Given the description of an element on the screen output the (x, y) to click on. 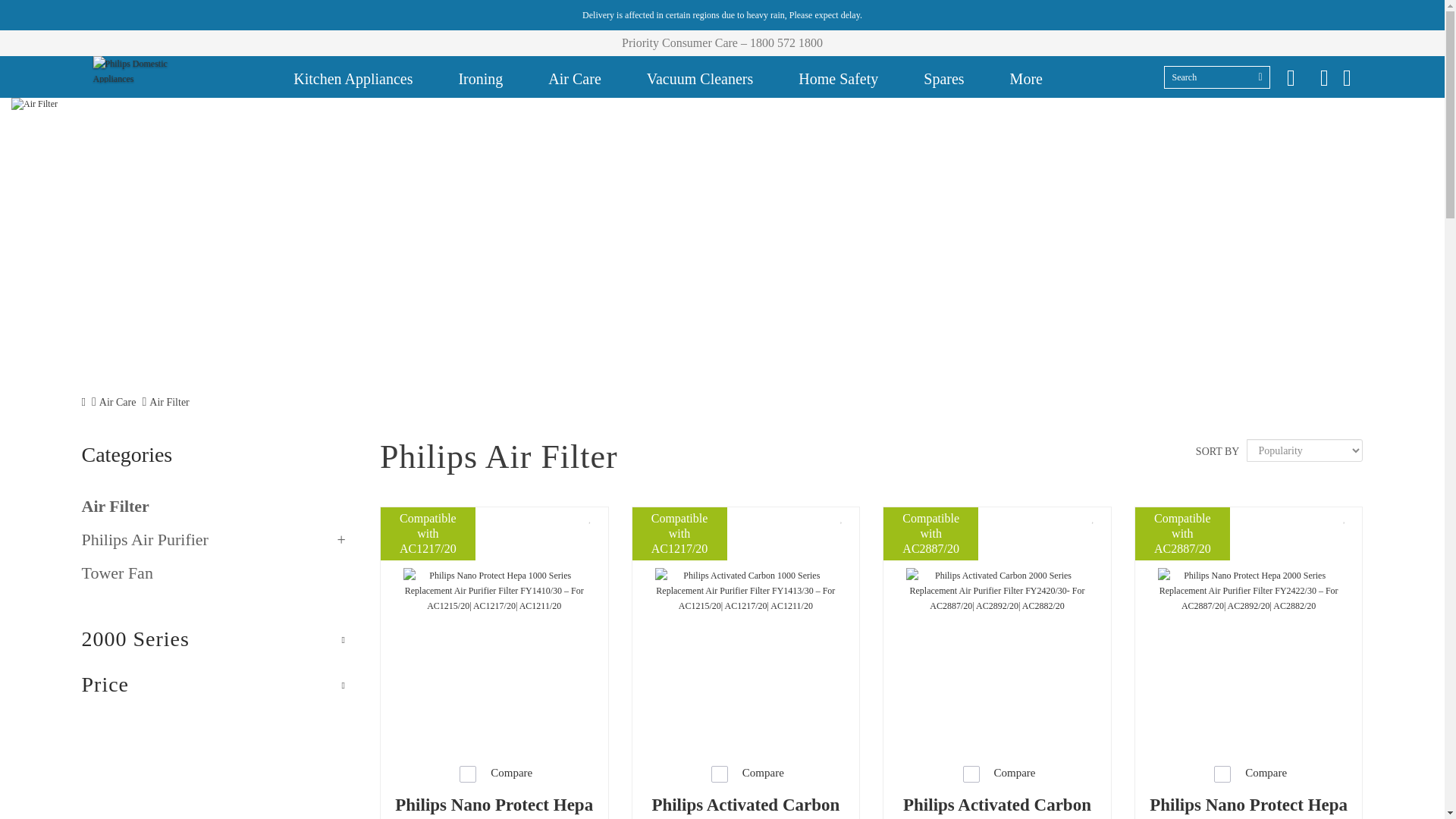
Cart (1346, 78)
Philips Domestic Appliances (132, 69)
Wishlist (841, 517)
My Wish List (1291, 77)
Wishlist (1093, 517)
My Account (1323, 78)
428474 (1222, 773)
428426 (719, 773)
Kitchen Appliances (353, 76)
